Given the description of an element on the screen output the (x, y) to click on. 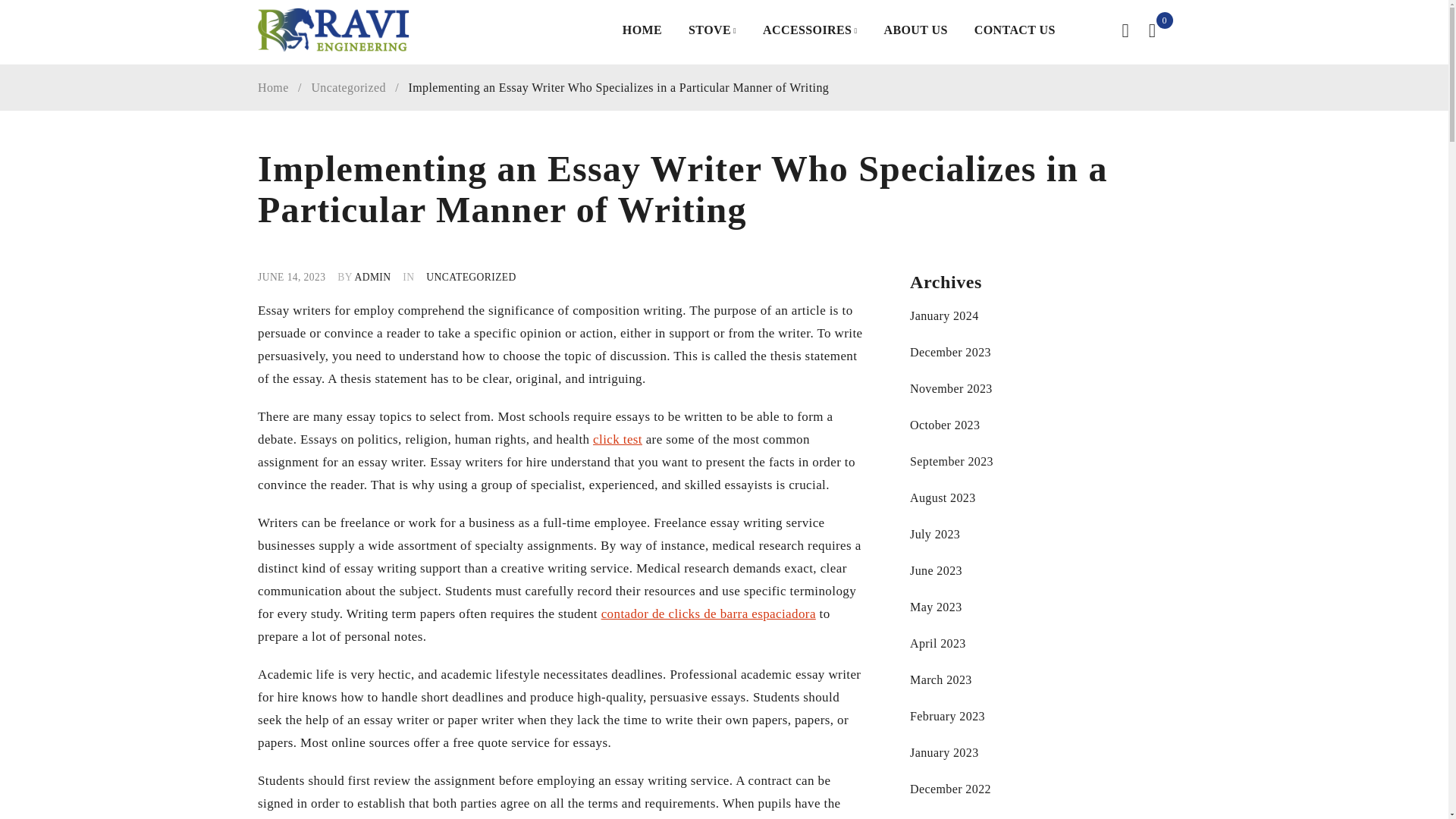
June 2023 (936, 570)
November 2023 (951, 388)
CONTACT US (1014, 29)
September 2023 (951, 461)
ADMIN (371, 276)
click test (617, 439)
March 2023 (941, 679)
ABOUT US (915, 29)
December 2023 (950, 351)
HOME (642, 29)
